Given the description of an element on the screen output the (x, y) to click on. 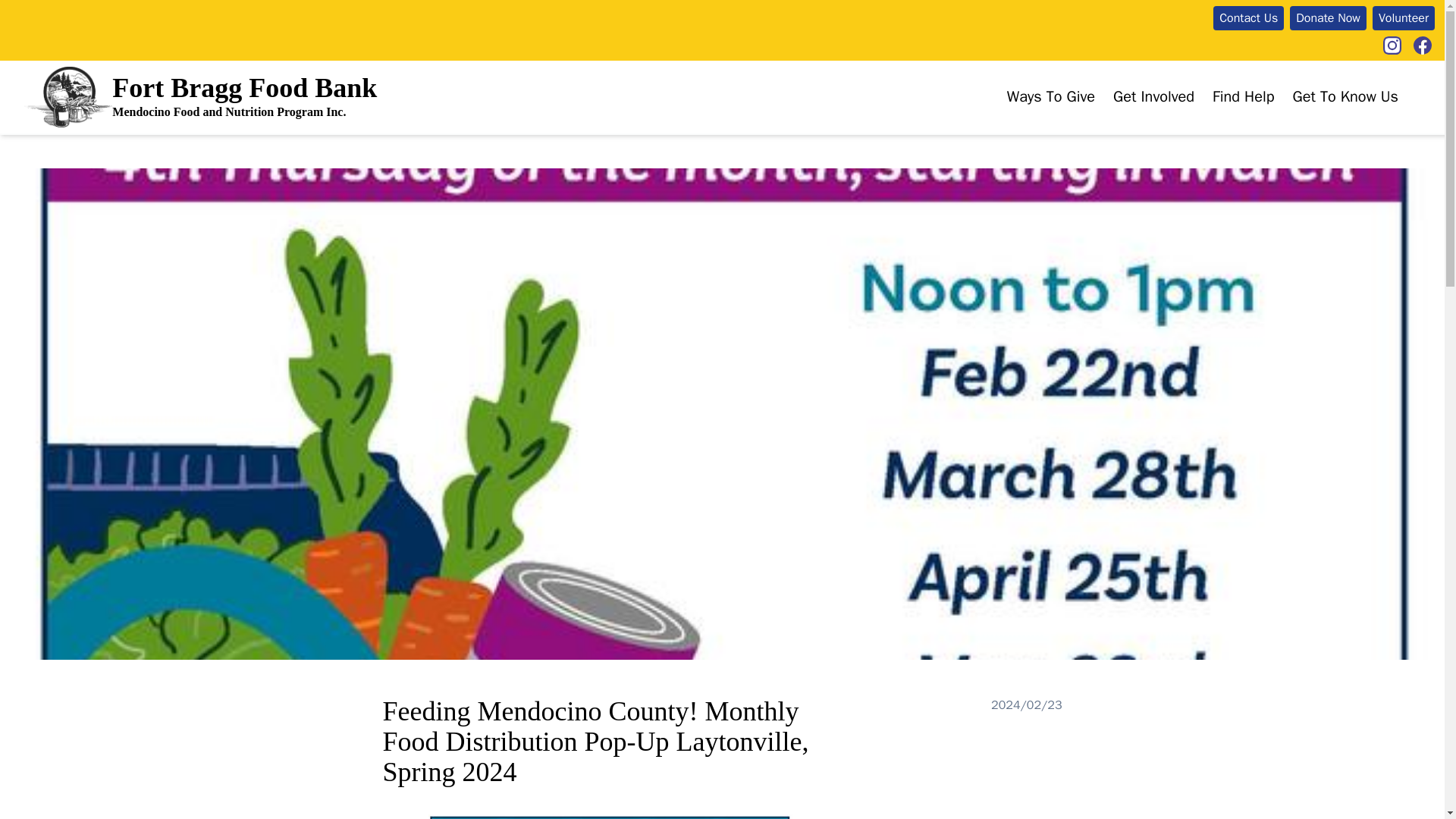
Donate Money (1064, 113)
Volunteer (1134, 113)
Find Food (1254, 113)
Donate Now (1328, 17)
Contact Us (1248, 17)
Contact Us (1248, 17)
Donate Now (1328, 17)
Our Story (1332, 113)
Volunteer (1403, 17)
